Given the description of an element on the screen output the (x, y) to click on. 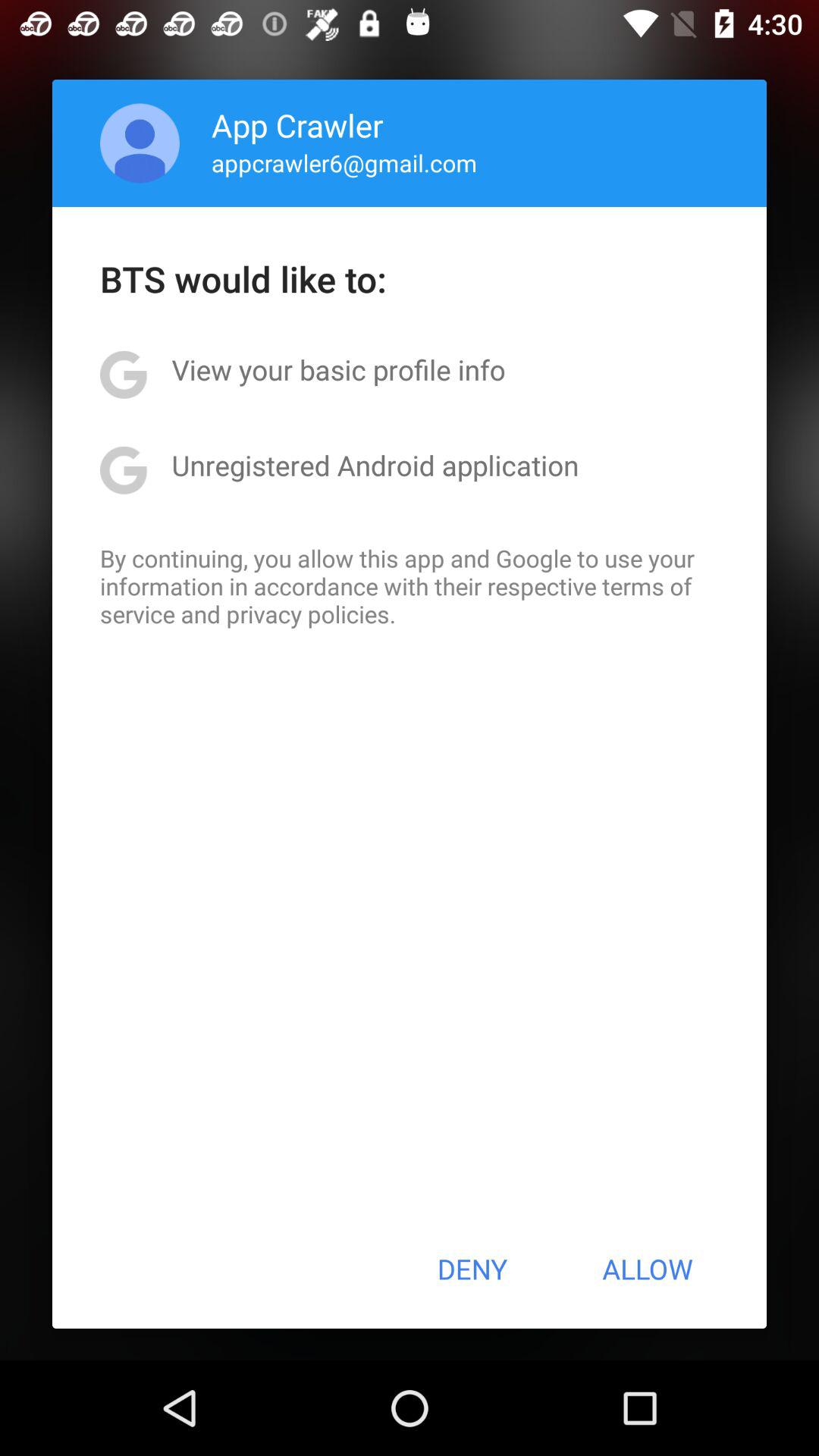
jump to the app crawler app (297, 124)
